Given the description of an element on the screen output the (x, y) to click on. 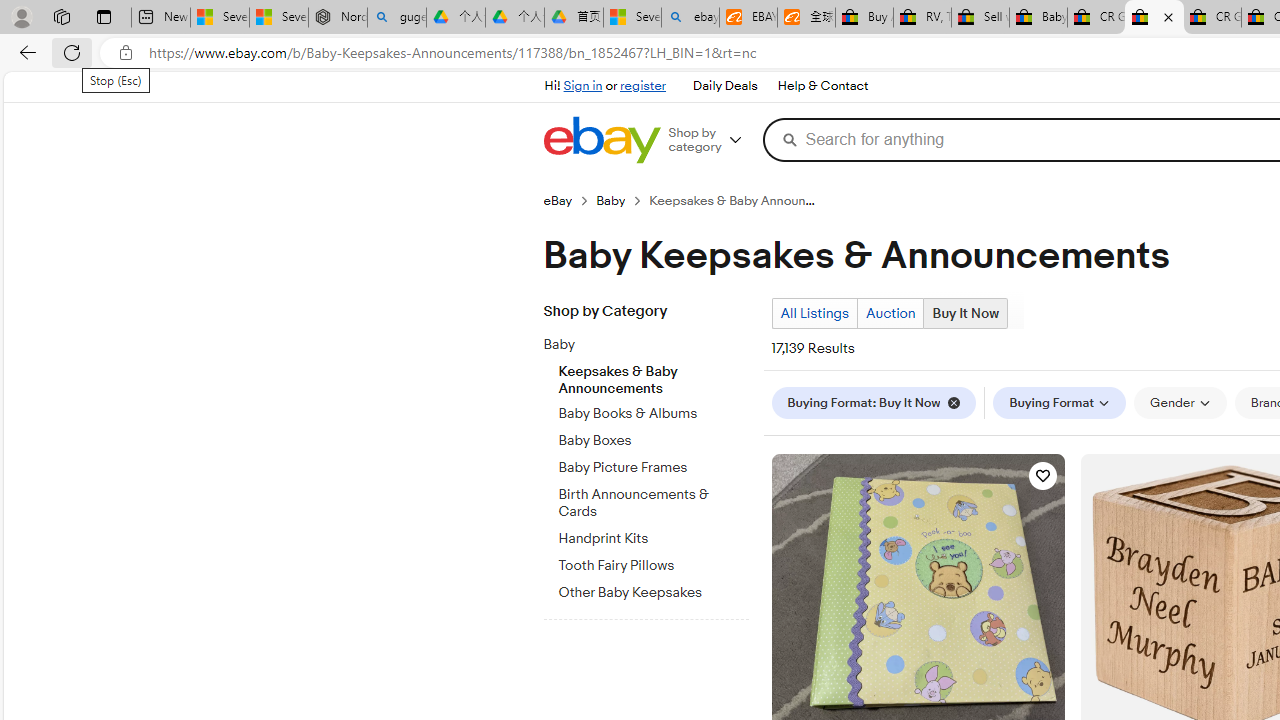
Baby (637, 345)
Tooth Fairy Pillows (653, 562)
Tab actions menu (104, 16)
